Given the description of an element on the screen output the (x, y) to click on. 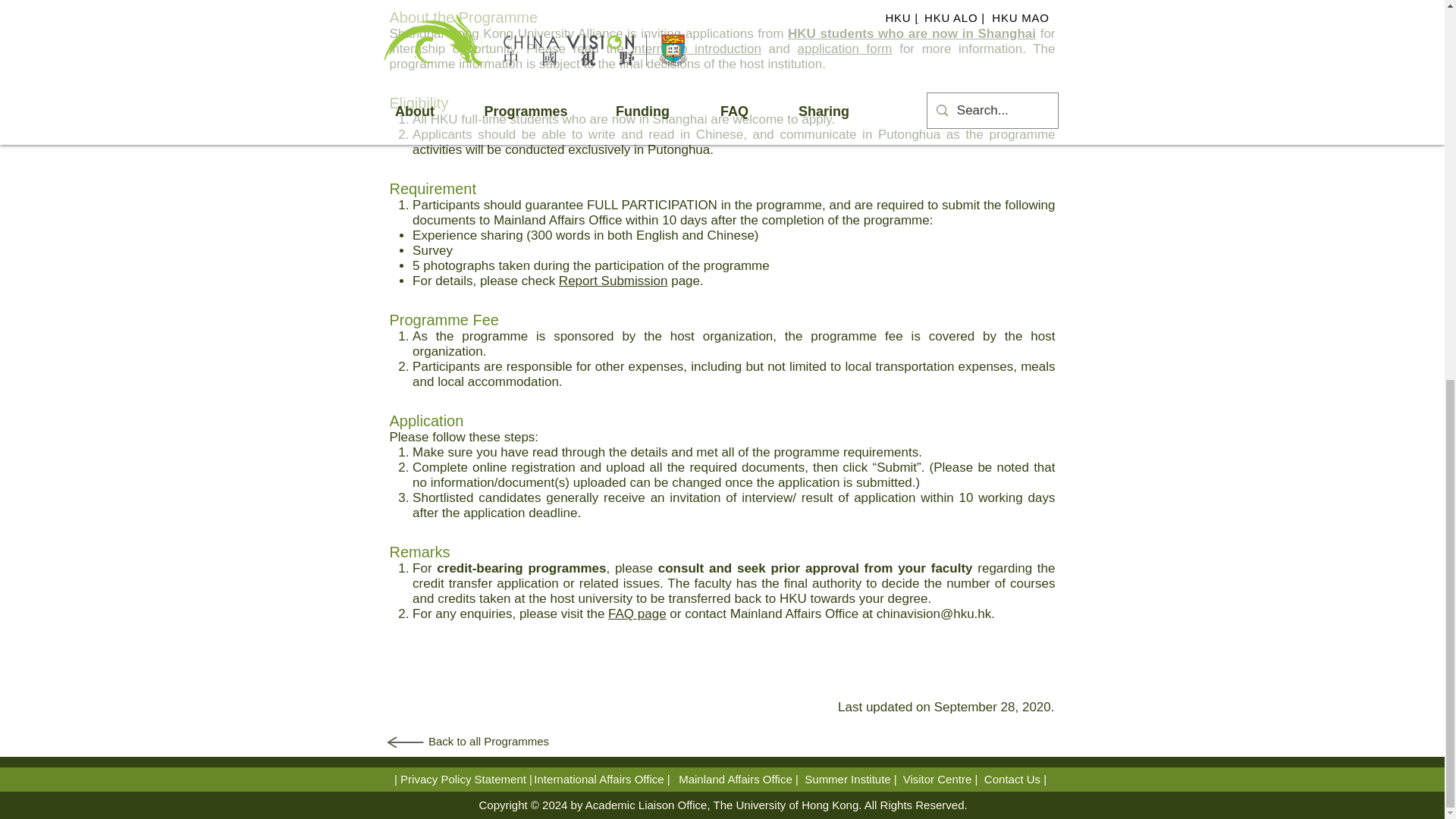
application form (844, 48)
internship introduction (696, 48)
Back to all Programmes (489, 740)
Report Submission (613, 280)
FAQ page (637, 613)
